Given the description of an element on the screen output the (x, y) to click on. 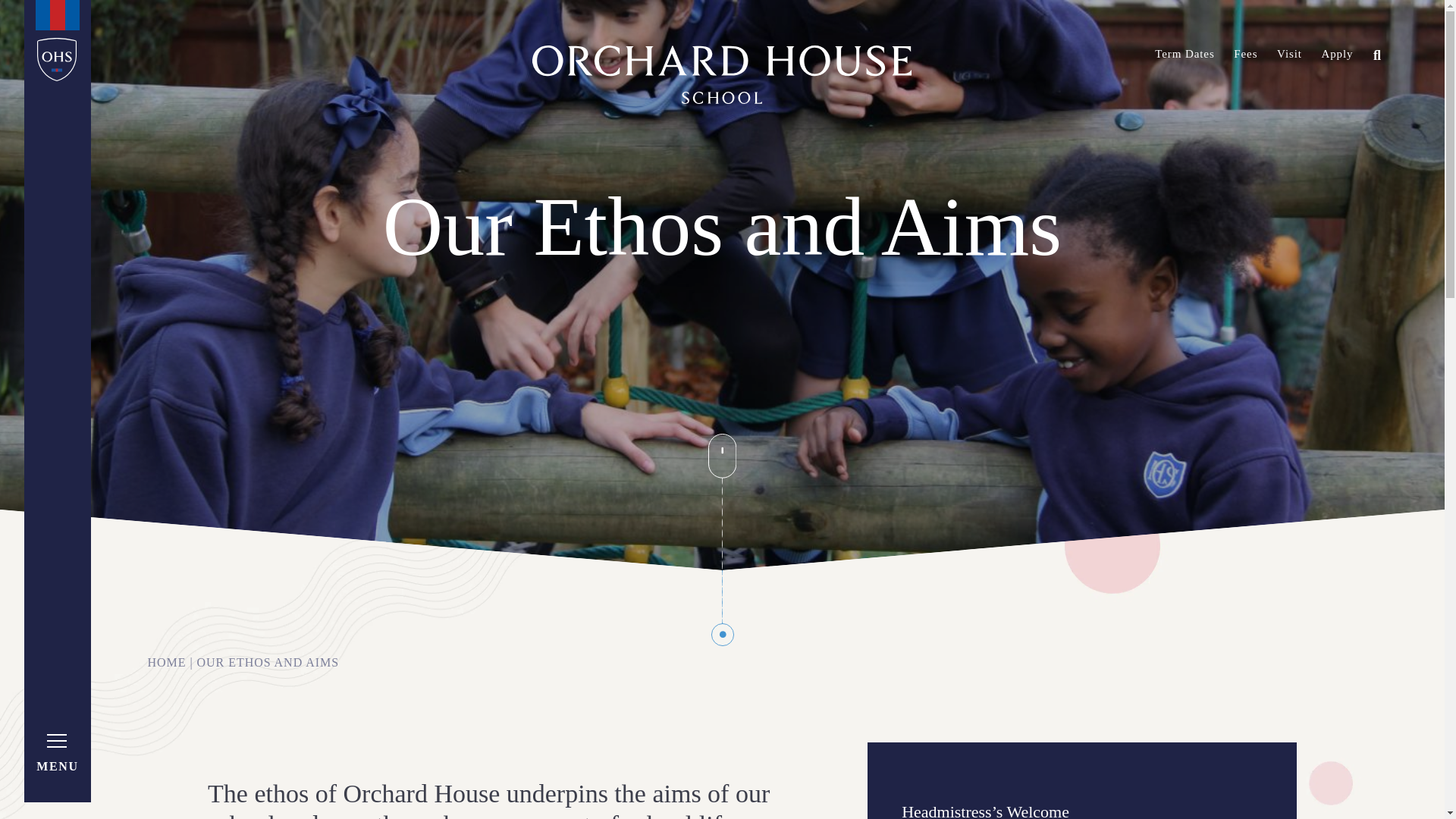
Apply (1336, 53)
Visit (1288, 53)
Go to Orchard House School. (166, 662)
Term Dates (1184, 53)
Fees (1245, 53)
